Given the description of an element on the screen output the (x, y) to click on. 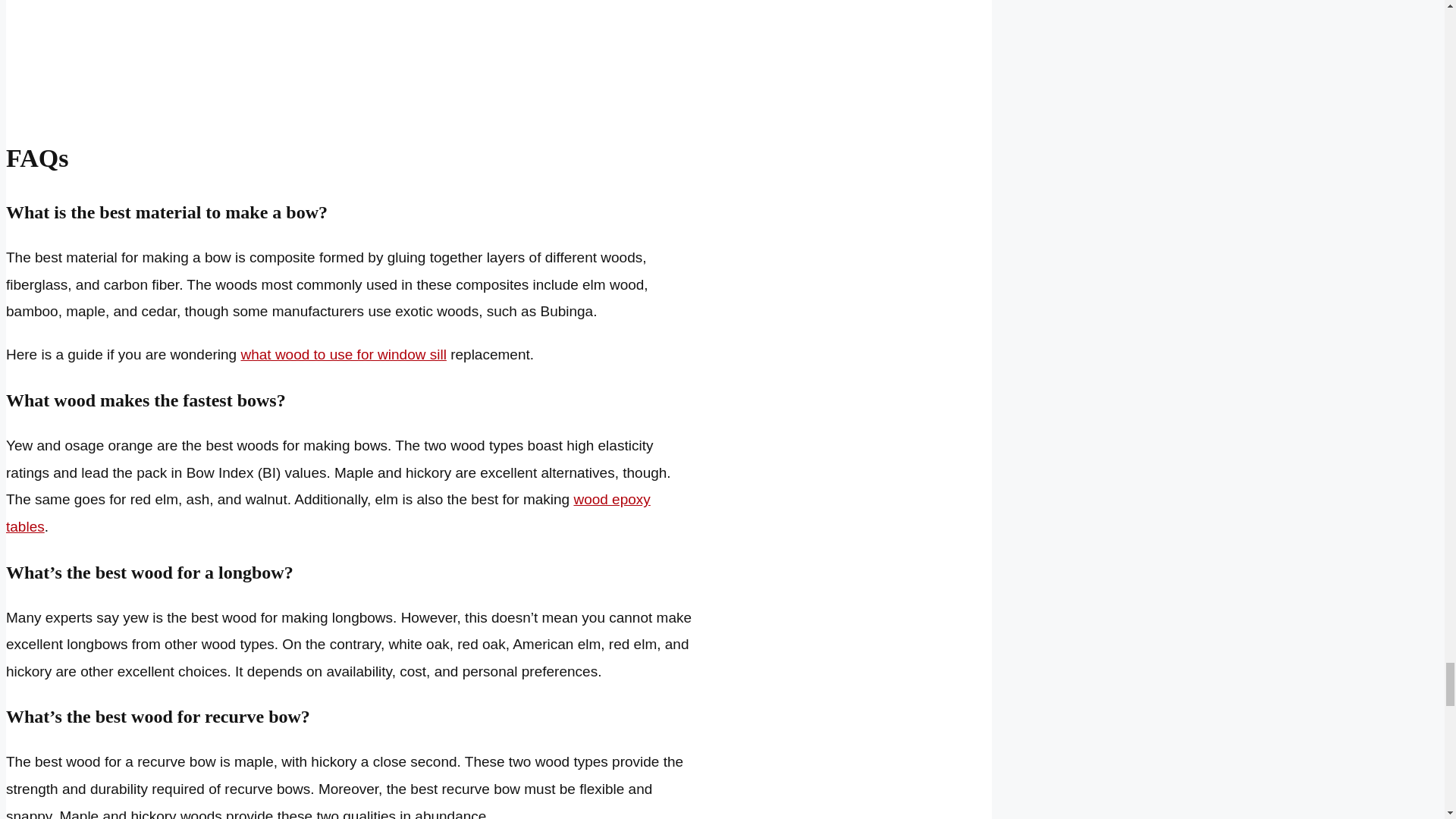
what wood to use for window sill (342, 354)
wood epoxy tables (327, 512)
